Given the description of an element on the screen output the (x, y) to click on. 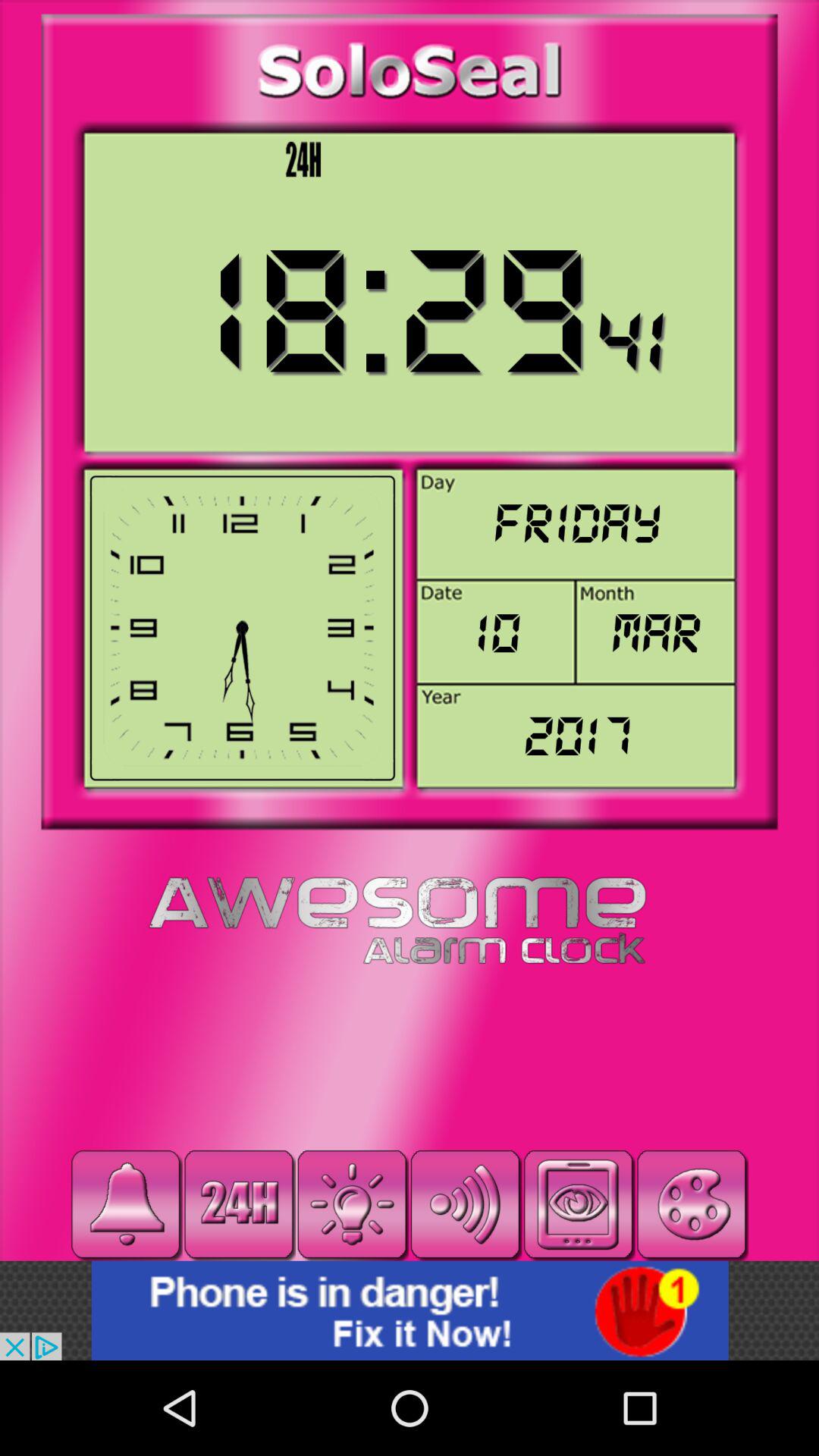
notification button (125, 1203)
